Given the description of an element on the screen output the (x, y) to click on. 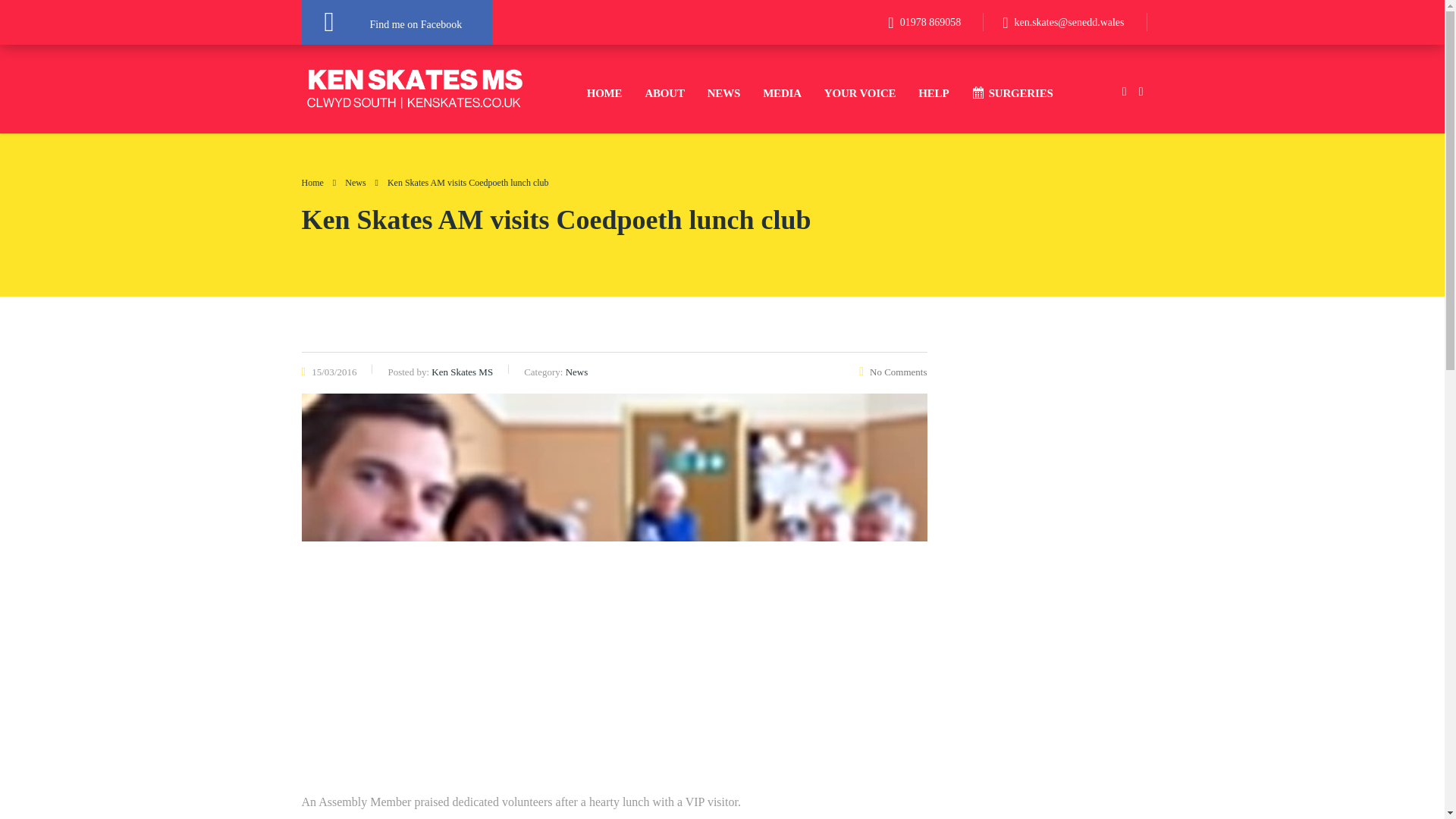
Find me on Facebook (397, 22)
SURGERIES (1011, 92)
News (355, 182)
NEWS (723, 92)
MEDIA (781, 92)
No Comments (892, 371)
HOME (604, 92)
Home (312, 182)
Go to the News category archives. (355, 182)
HELP (933, 92)
